Given the description of an element on the screen output the (x, y) to click on. 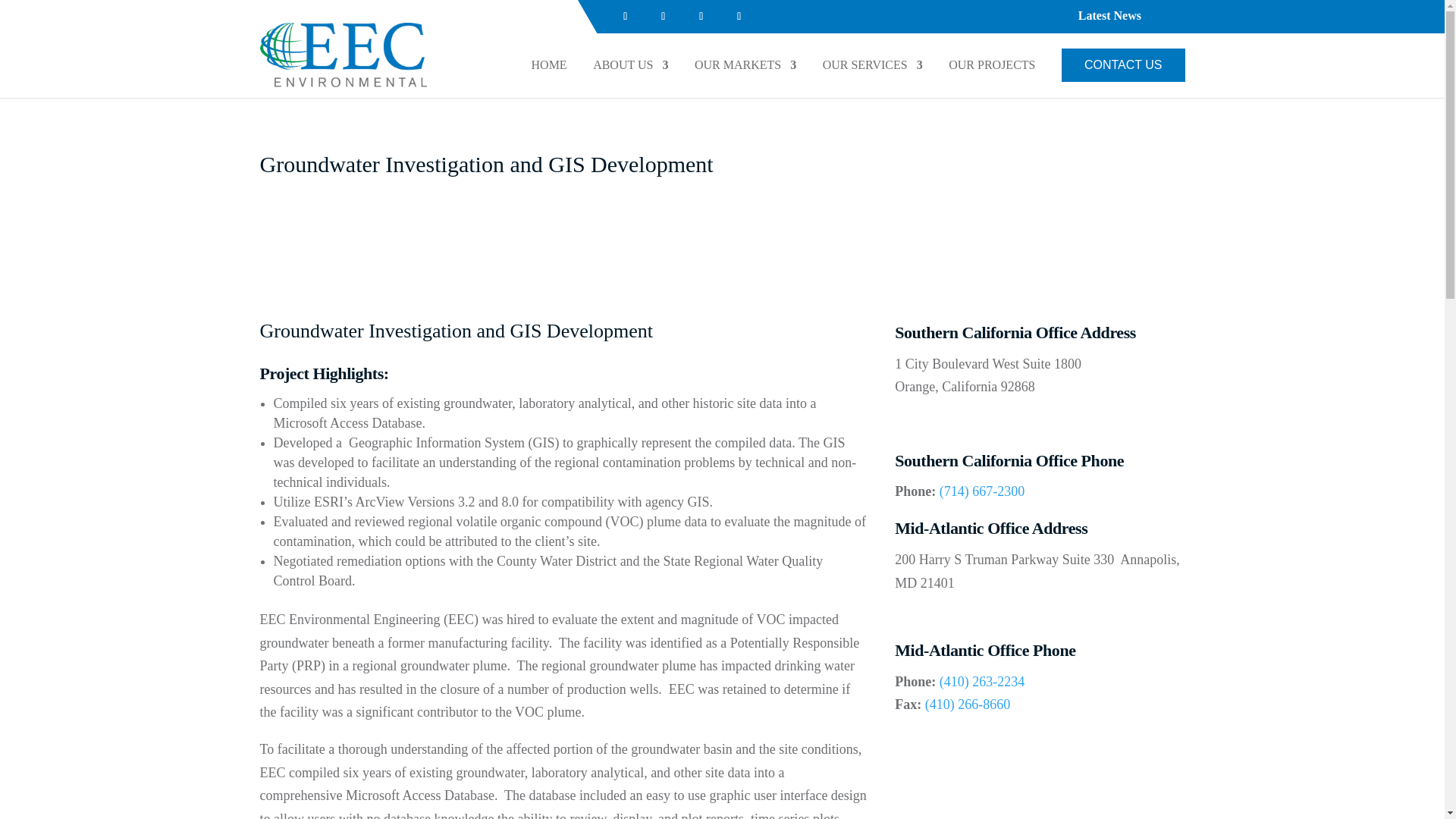
OUR SERVICES (872, 70)
ABOUT US (630, 70)
Follow on Instagram (701, 15)
Follow on Facebook (625, 15)
Follow on LinkedIn (663, 15)
OUR MARKETS (745, 70)
HOME (549, 70)
Latest News (1109, 20)
Follow on X (739, 15)
